Given the description of an element on the screen output the (x, y) to click on. 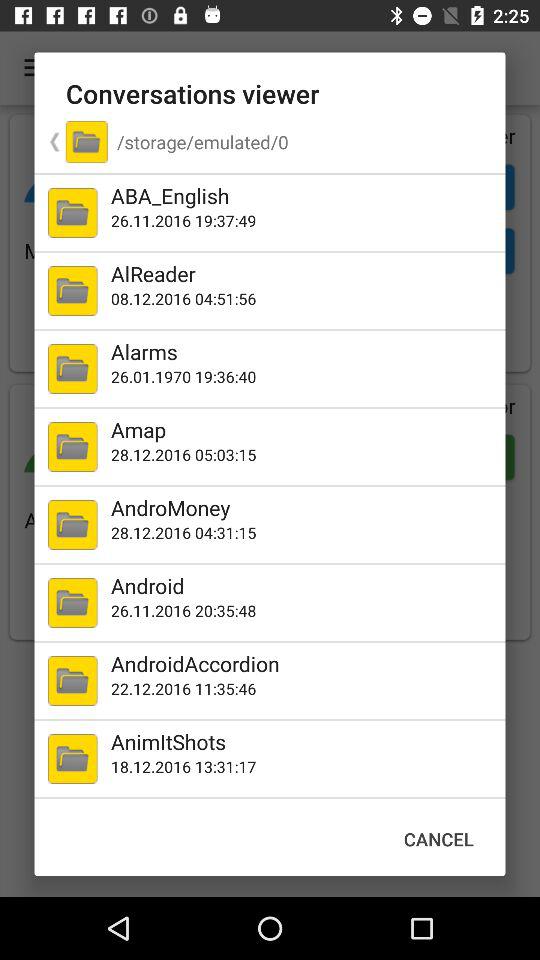
click item below 26 01 1970 icon (304, 429)
